Given the description of an element on the screen output the (x, y) to click on. 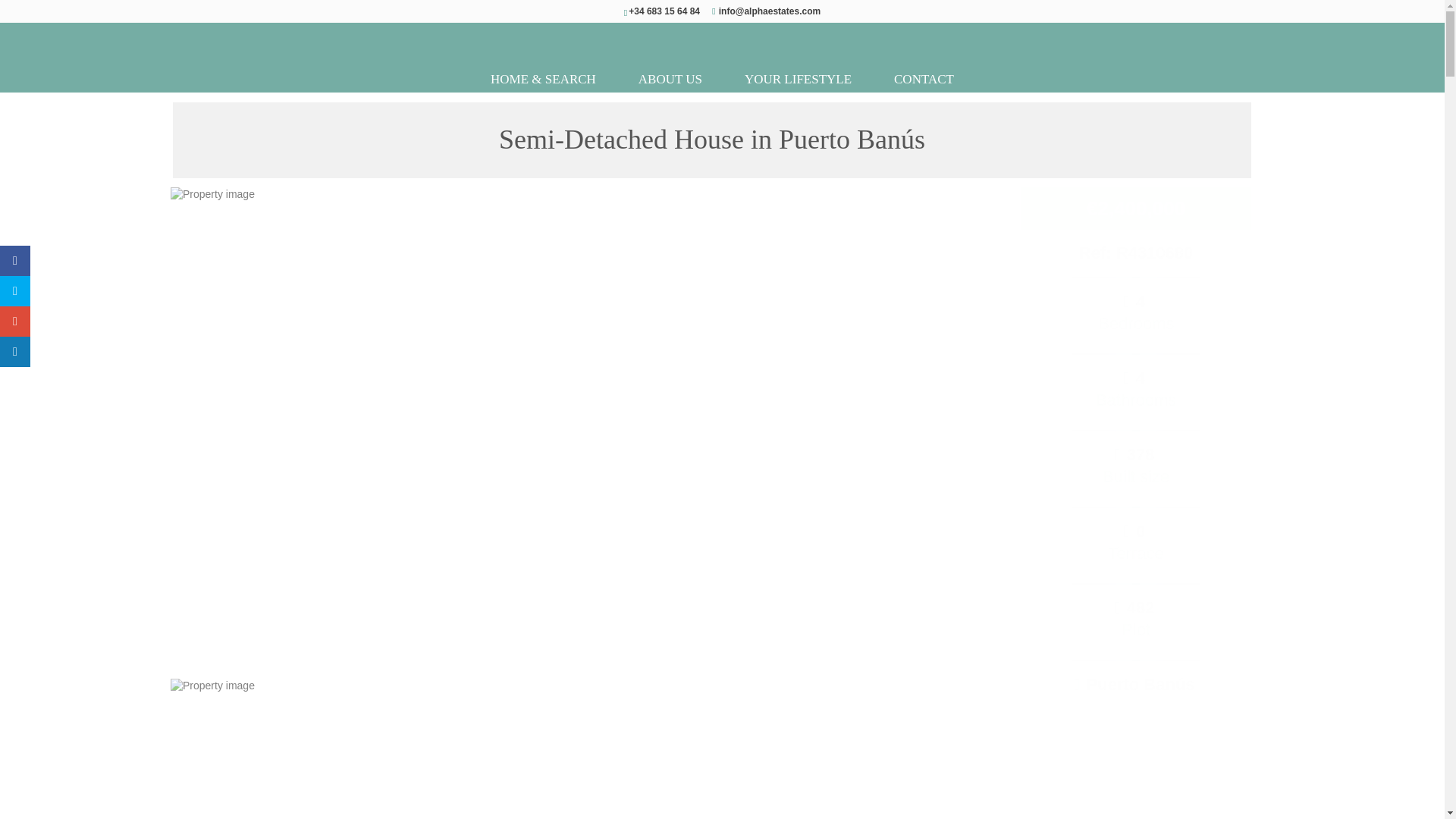
CONTACT (923, 79)
YOUR LIFESTYLE (798, 79)
ABOUT US (670, 79)
